Given the description of an element on the screen output the (x, y) to click on. 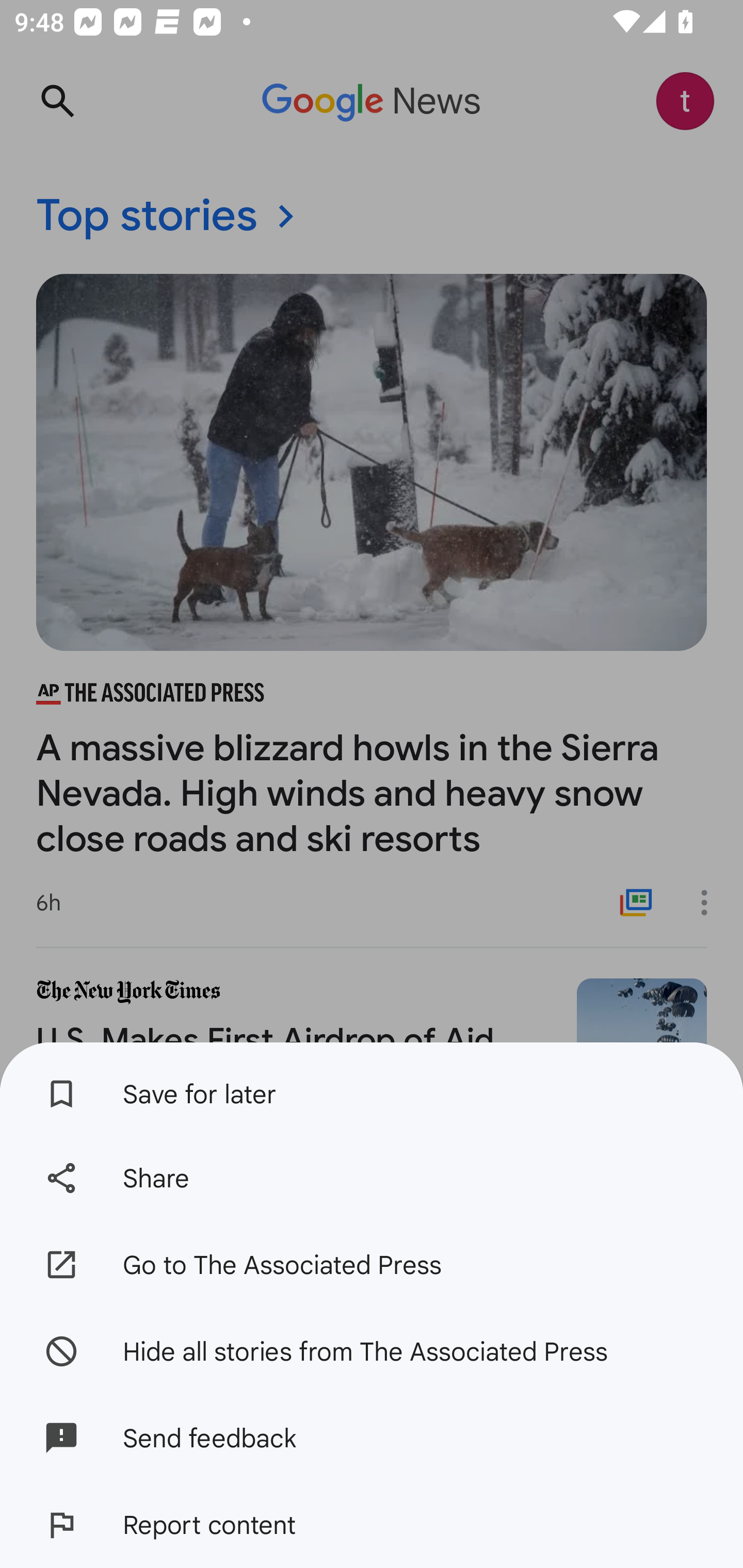
Save for later (371, 1088)
Share (371, 1178)
Go to The Associated Press (371, 1264)
Hide all stories from The Associated Press (371, 1350)
Send feedback (371, 1437)
Report content (371, 1524)
